Given the description of an element on the screen output the (x, y) to click on. 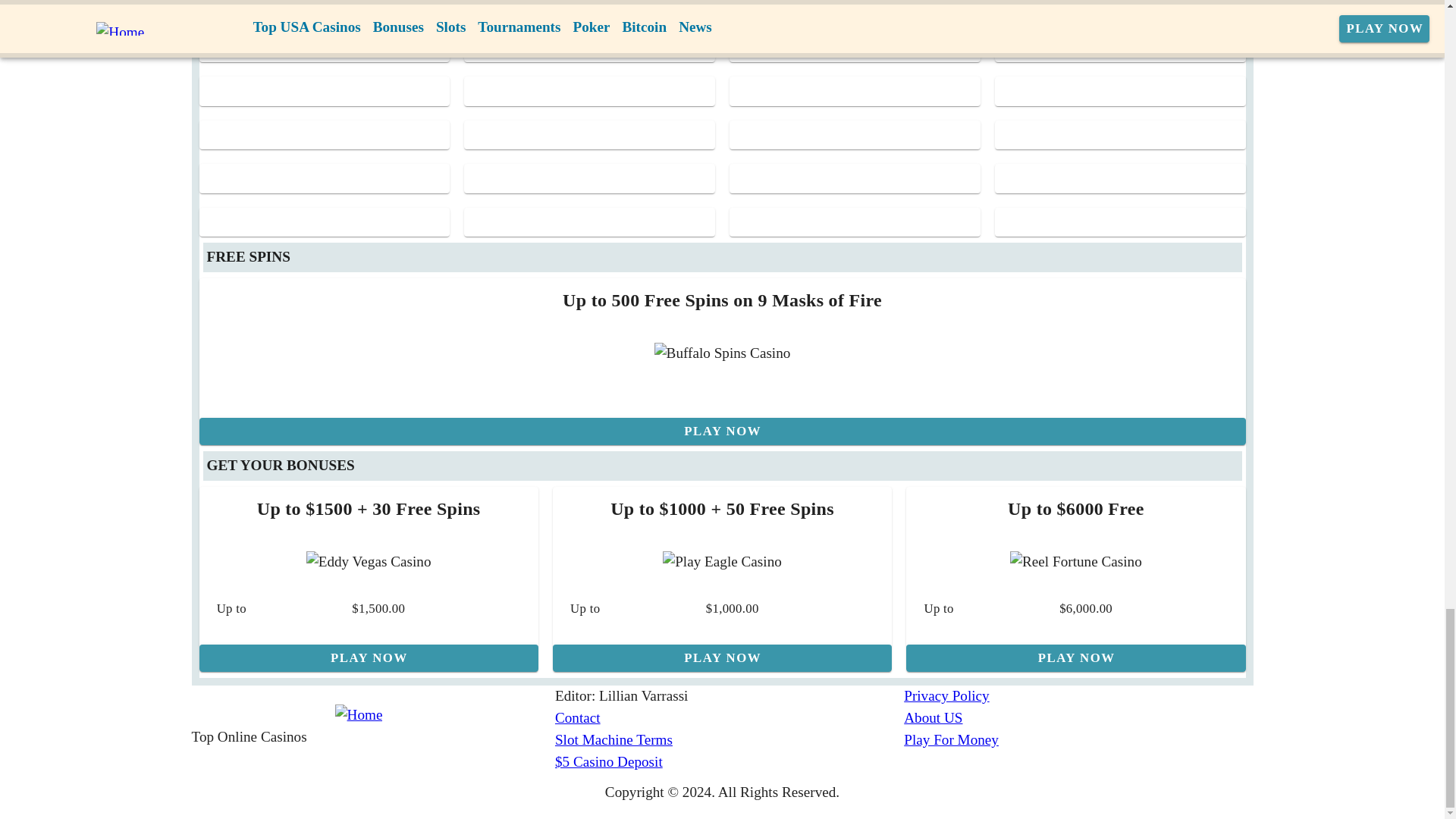
Contact (729, 718)
PLAY NOW (367, 657)
Slot Machine Terms (729, 740)
About US (1078, 718)
Privacy Policy (1078, 696)
PLAY NOW (721, 431)
Play For Money (1078, 740)
PLAY NOW (722, 657)
PLAY NOW (1074, 657)
